Given the description of an element on the screen output the (x, y) to click on. 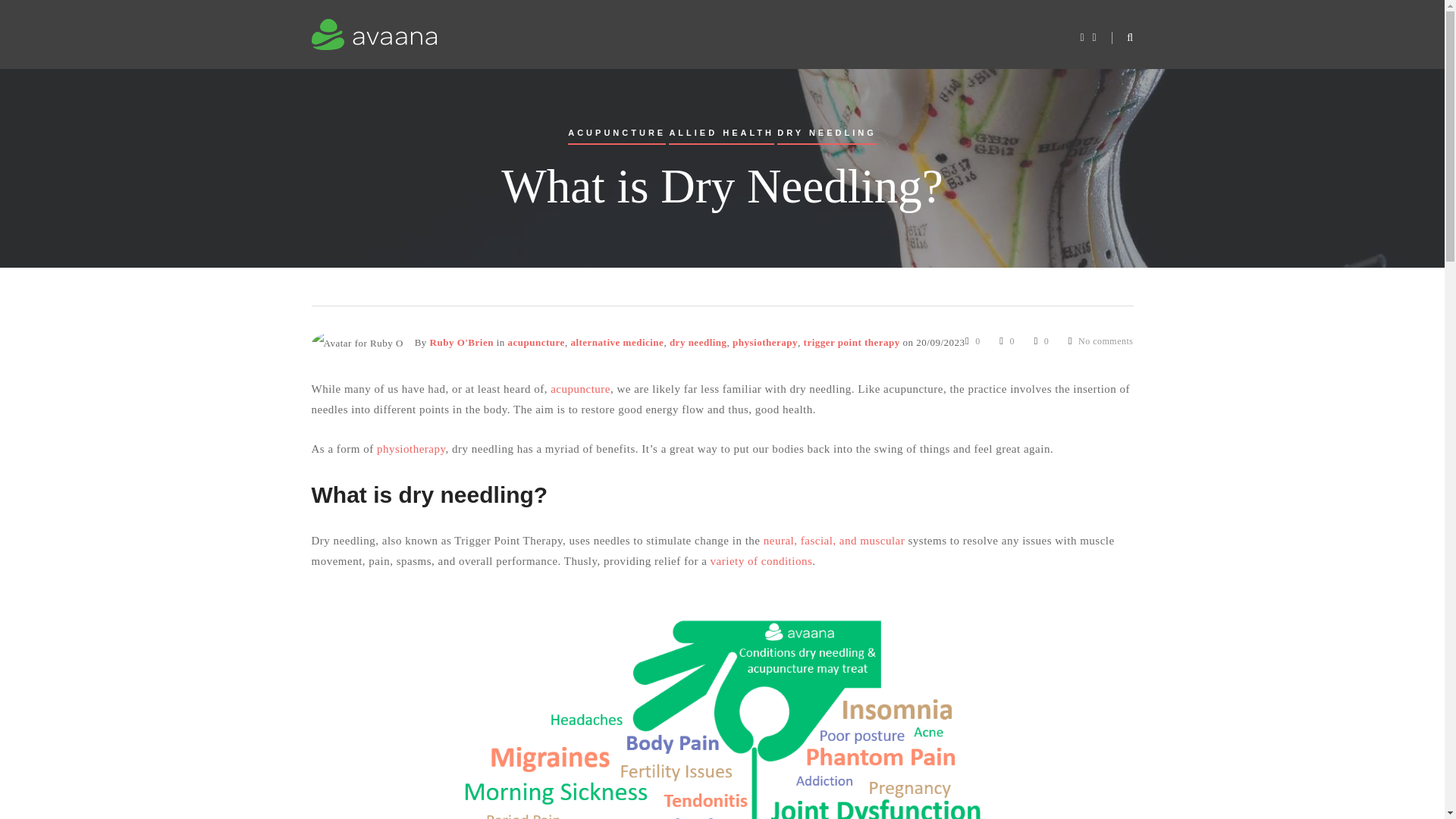
Ruby O'Brien (461, 342)
DRY NEEDLING (826, 136)
dry needling (697, 342)
Avaana Answers (469, 36)
Gravatar for Ruby O (357, 343)
alternative medicine (616, 342)
0 (1041, 340)
physiotherapy (411, 449)
0 (972, 340)
acupuncture (580, 388)
neural, fascial, and muscular (833, 540)
acupuncture (536, 342)
0 (1006, 340)
ACUPUNCTURE (616, 136)
variety of conditions (761, 561)
